Given the description of an element on the screen output the (x, y) to click on. 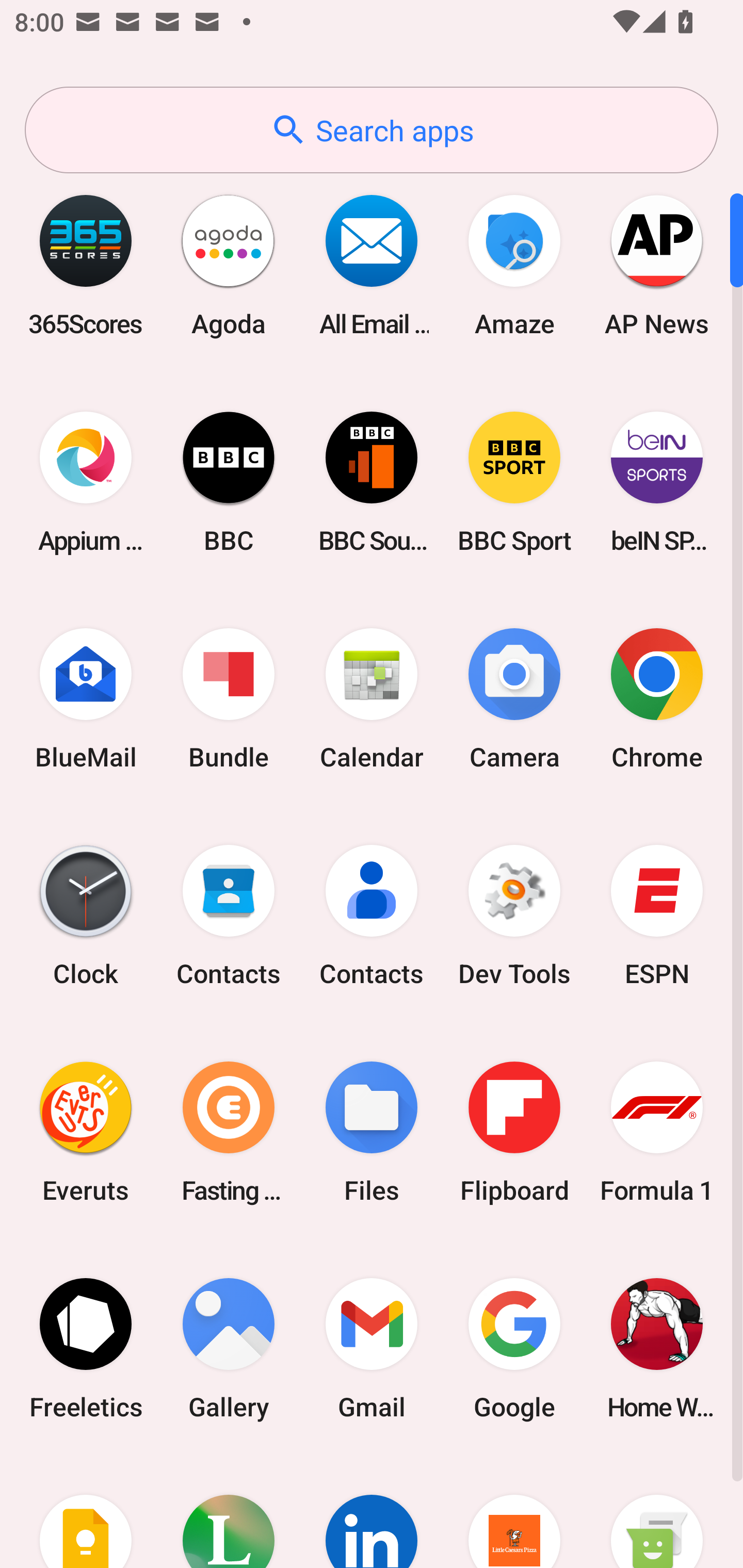
  Search apps (371, 130)
365Scores (85, 264)
Agoda (228, 264)
All Email Connect (371, 264)
Amaze (514, 264)
AP News (656, 264)
Appium Settings (85, 482)
BBC (228, 482)
BBC Sounds (371, 482)
BBC Sport (514, 482)
beIN SPORTS (656, 482)
BlueMail (85, 699)
Bundle (228, 699)
Calendar (371, 699)
Camera (514, 699)
Chrome (656, 699)
Clock (85, 915)
Contacts (228, 915)
Contacts (371, 915)
Dev Tools (514, 915)
ESPN (656, 915)
Everuts (85, 1131)
Fasting Coach (228, 1131)
Files (371, 1131)
Flipboard (514, 1131)
Formula 1 (656, 1131)
Freeletics (85, 1348)
Gallery (228, 1348)
Gmail (371, 1348)
Google (514, 1348)
Home Workout (656, 1348)
Keep Notes (85, 1512)
Lifesum (228, 1512)
LinkedIn (371, 1512)
Little Caesars Pizza (514, 1512)
Messaging (656, 1512)
